Given the description of an element on the screen output the (x, y) to click on. 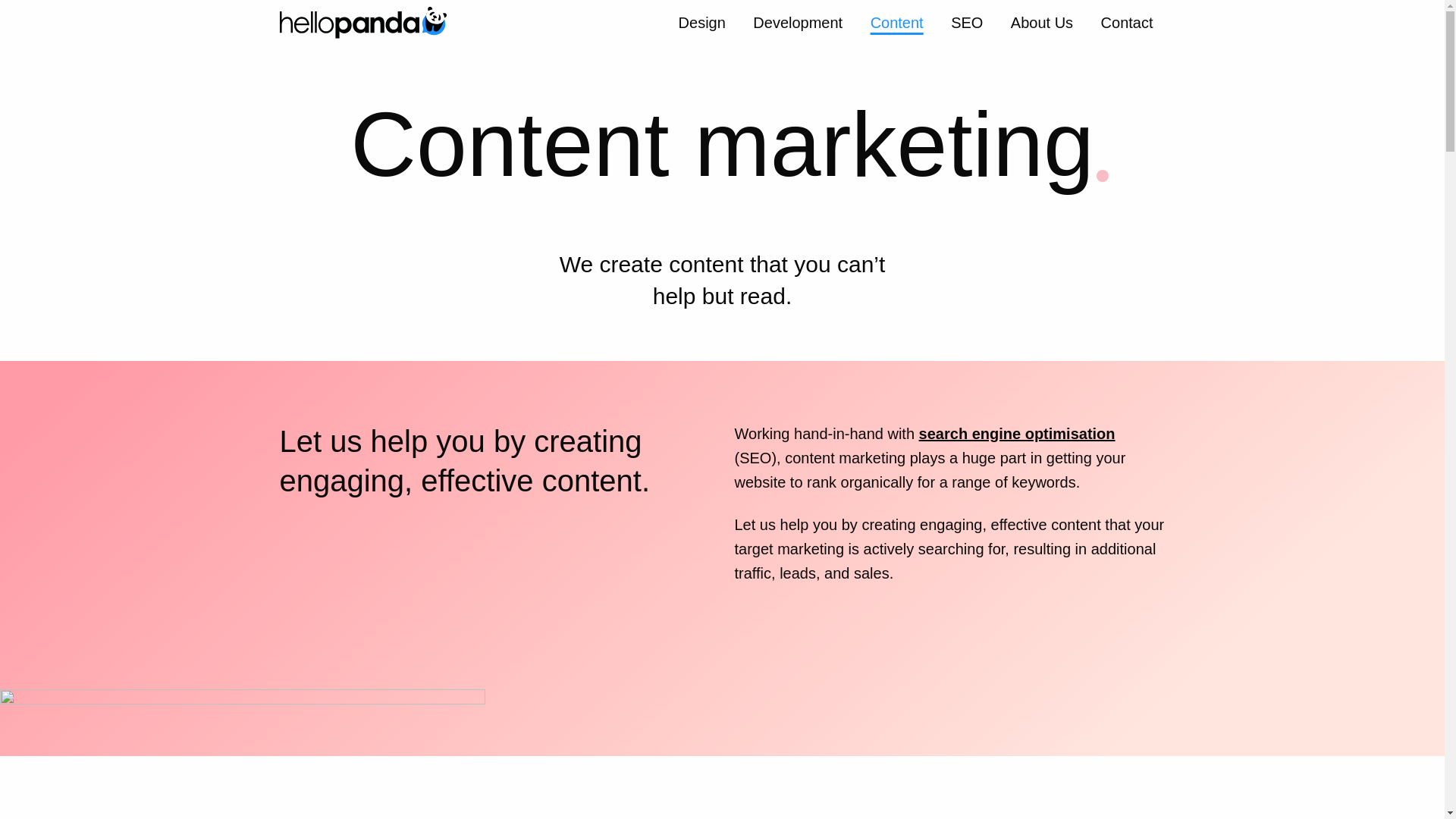
search engine optimisation (1016, 433)
About Us (1041, 24)
Development (797, 24)
SEO (966, 24)
Design (702, 24)
Content (897, 24)
Contact (1127, 24)
